Given the description of an element on the screen output the (x, y) to click on. 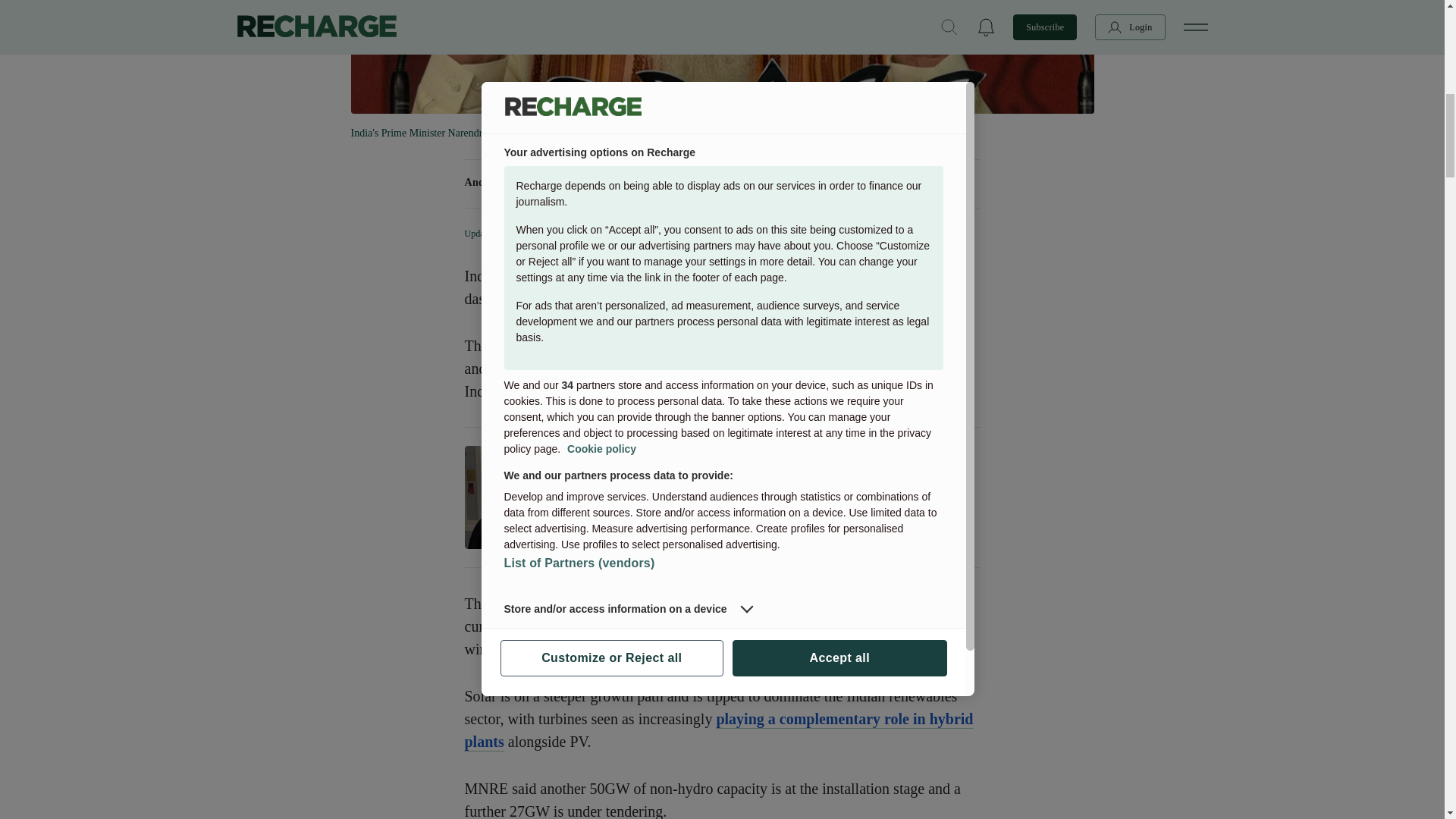
playing a complementary role in hybrid plants (718, 730)
Andrew Lee (492, 182)
Andrew Lee (492, 182)
